Given the description of an element on the screen output the (x, y) to click on. 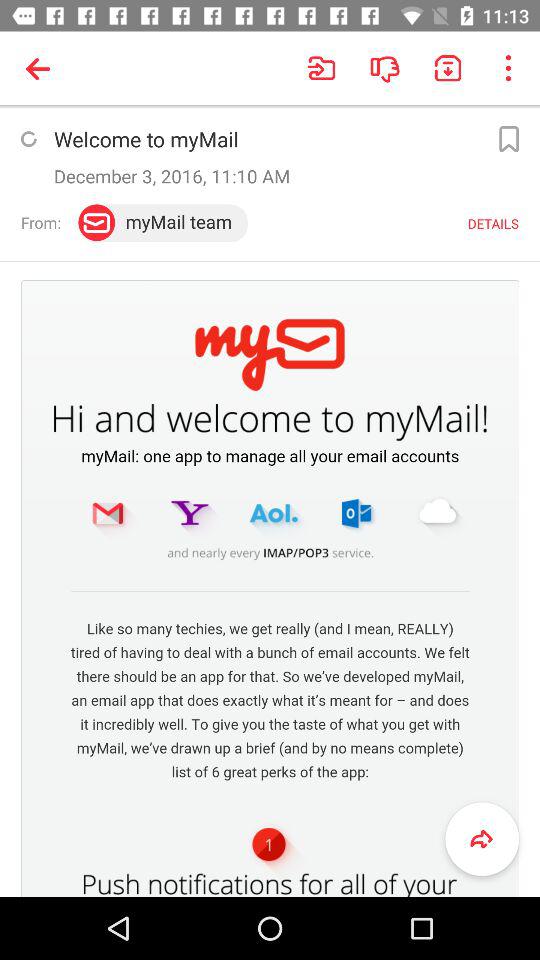
save to file (508, 139)
